Given the description of an element on the screen output the (x, y) to click on. 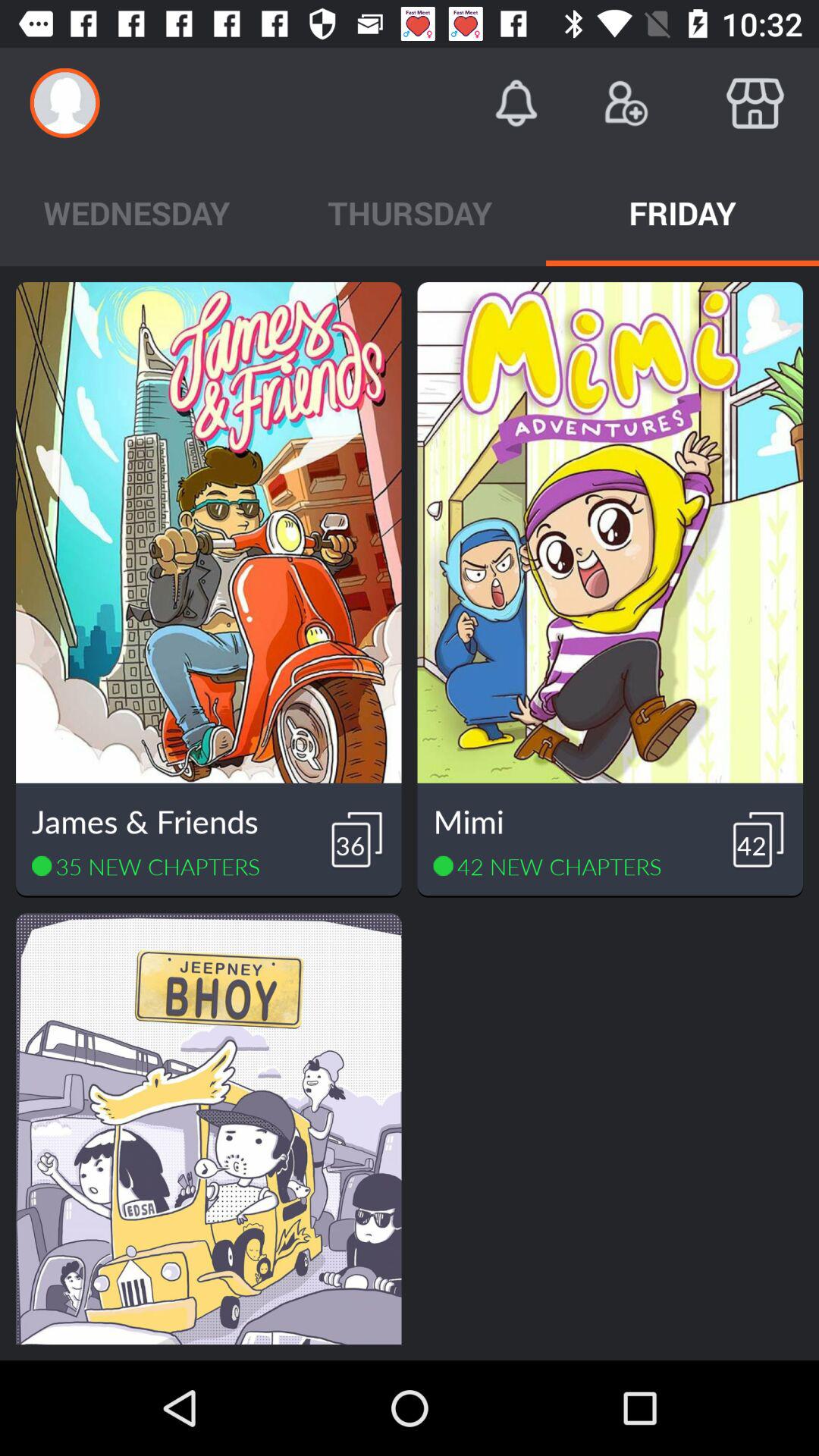
open the app next to friday  icon (409, 212)
